Given the description of an element on the screen output the (x, y) to click on. 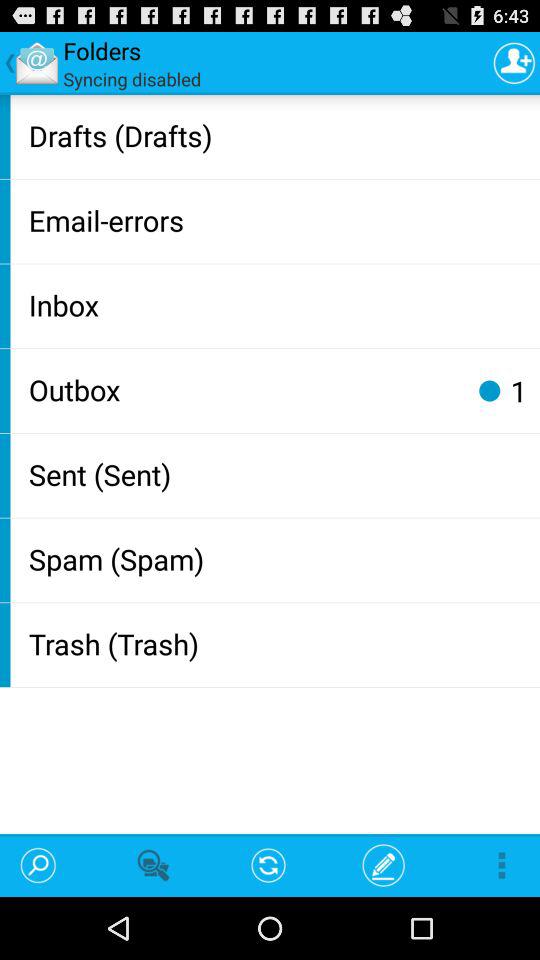
choose the app below the inbox icon (244, 389)
